Given the description of an element on the screen output the (x, y) to click on. 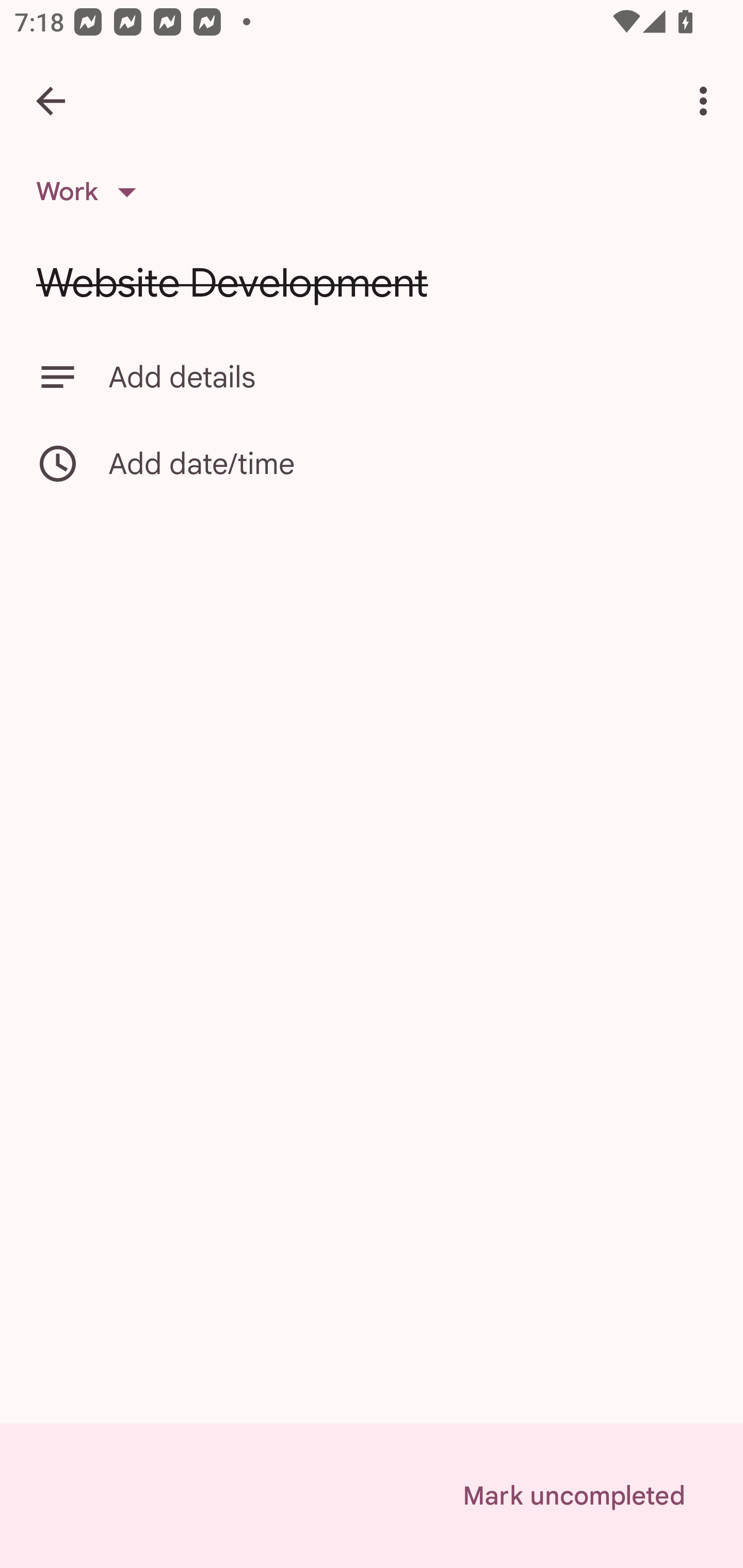
Back (50, 101)
More options (706, 101)
Work List, Work selected, 1 of 19 (92, 191)
Website Development (371, 283)
Add details (371, 376)
Add details (407, 376)
Add date/time (371, 463)
Mark uncompleted (573, 1495)
